Given the description of an element on the screen output the (x, y) to click on. 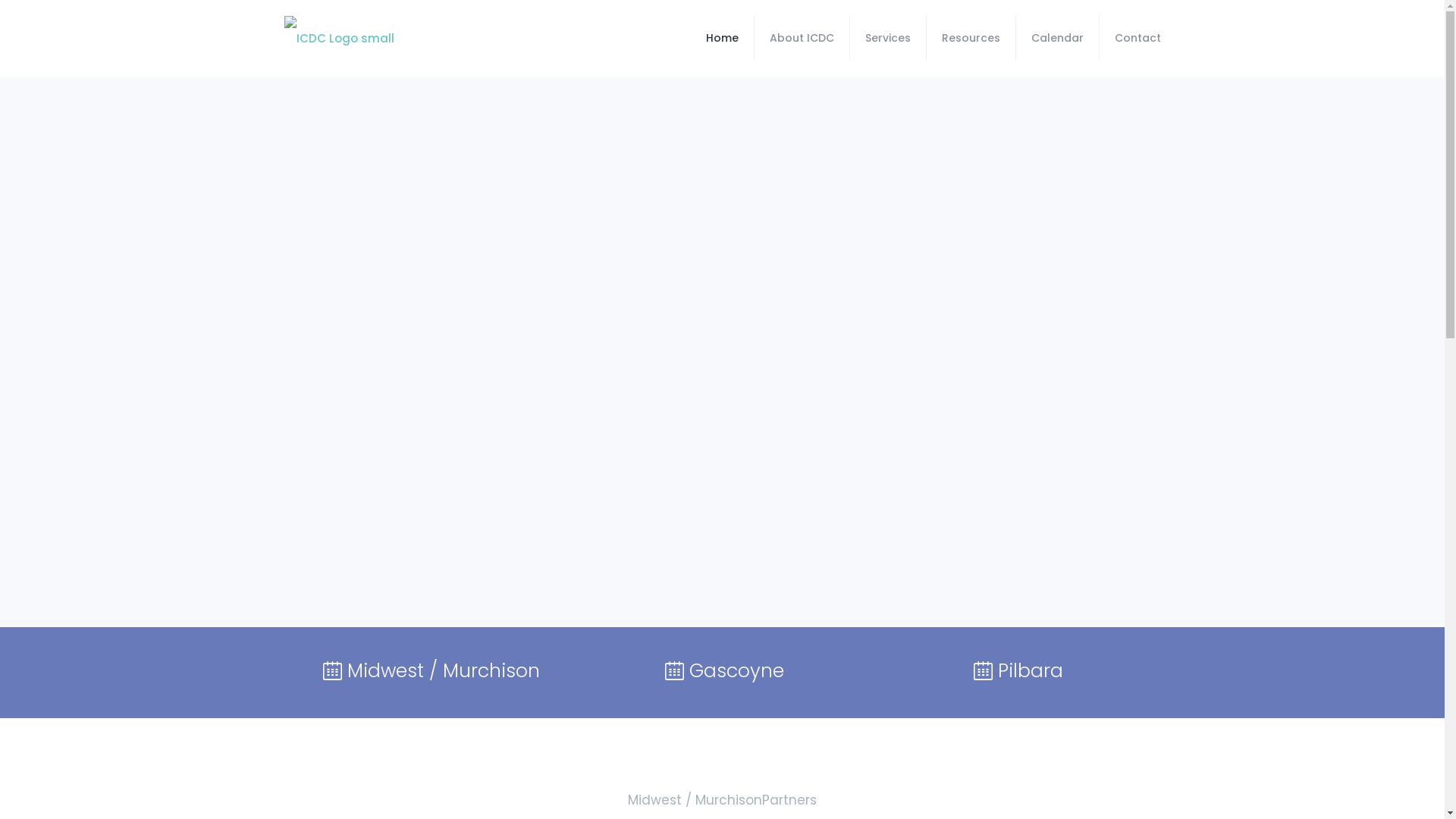
About ICDC Element type: text (801, 37)
Home Element type: text (721, 37)
Resources Element type: text (971, 37)
Services Element type: text (887, 37)
Calendar Element type: text (1057, 37)
Contact Element type: text (1137, 37)
  Pilbara Element type: text (1015, 670)
Integrated Chronic Disease Care Program Element type: hover (338, 37)
  Gascoyne Element type: text (721, 670)
  Midwest / Murchison Element type: text (428, 670)
